Given the description of an element on the screen output the (x, y) to click on. 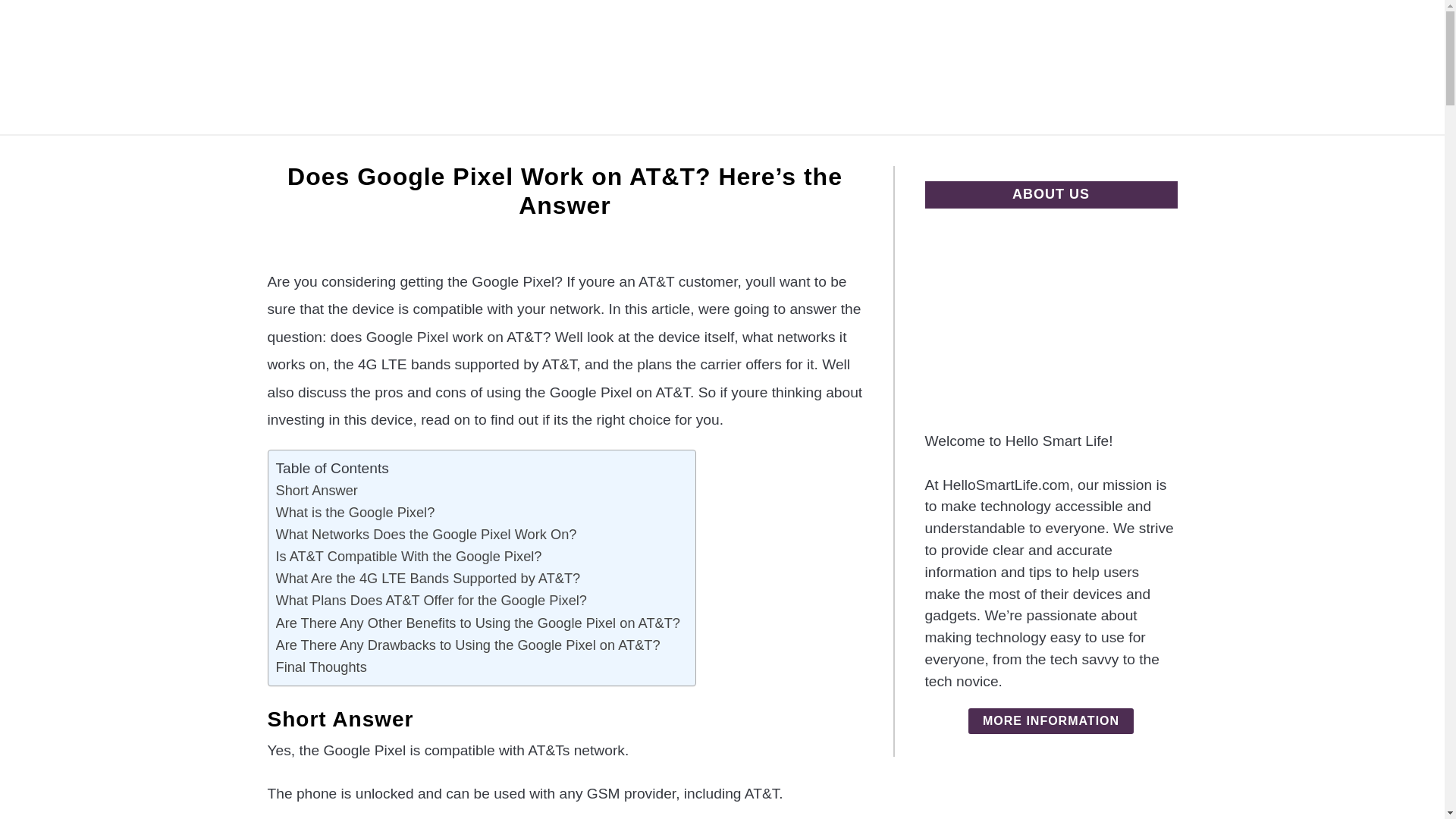
SMARTPHONES (856, 152)
What Networks Does the Google Pixel Work On? (426, 534)
What is the Google Pixel? (355, 512)
What is the Google Pixel? (355, 512)
Short Answer (317, 490)
Final Thoughts (321, 667)
SMARTWATCHES (713, 152)
Search (1203, 67)
MORE INFORMATION (1051, 720)
Final Thoughts (321, 667)
